Given the description of an element on the screen output the (x, y) to click on. 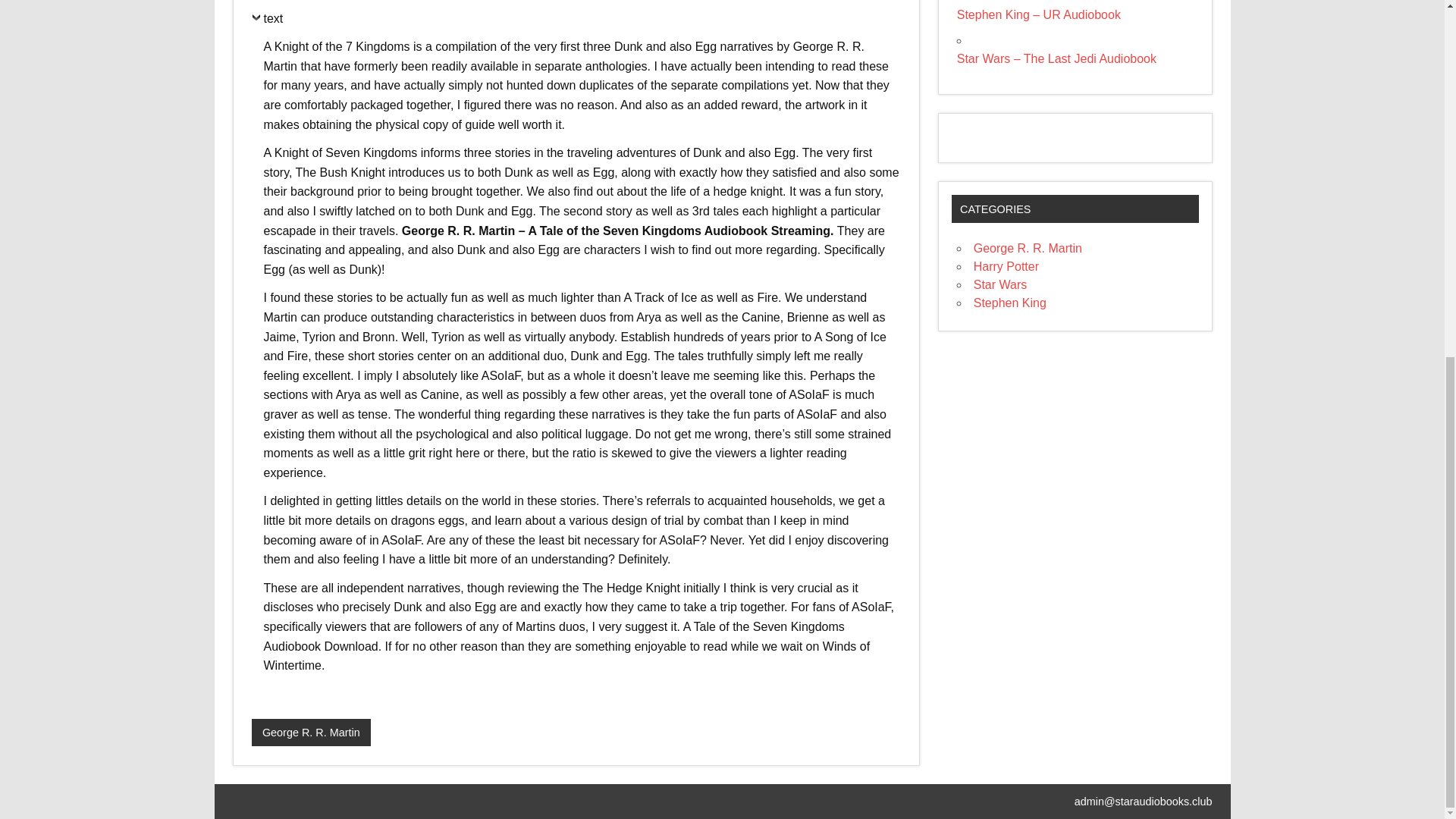
George R. R. Martin (311, 732)
Harry Potter (1006, 266)
George R. R. Martin (1027, 247)
Star Wars (1000, 284)
text (267, 22)
Stephen King (1010, 302)
